Given the description of an element on the screen output the (x, y) to click on. 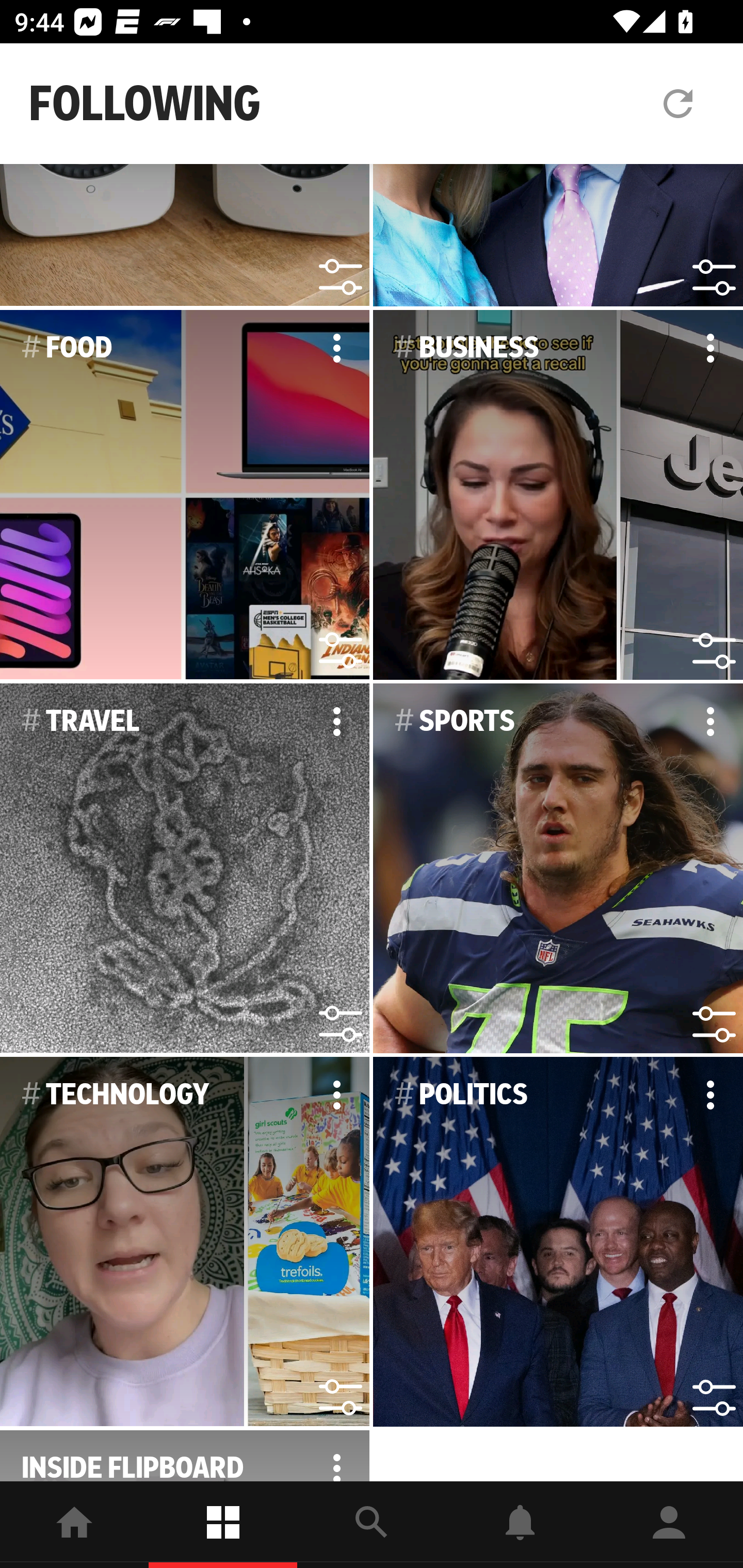
# FOOD Options (184, 495)
Options (336, 347)
# BUSINESS Options (557, 495)
Options (710, 347)
# TRAVEL Options (184, 868)
Options (336, 720)
# SPORTS Options (557, 868)
Options (710, 720)
# TECHNOLOGY Options (184, 1241)
Options (336, 1094)
# POLITICS Options (557, 1241)
Options (710, 1094)
home (74, 1524)
Following (222, 1524)
explore (371, 1524)
Notifications (519, 1524)
Profile (668, 1524)
